Given the description of an element on the screen output the (x, y) to click on. 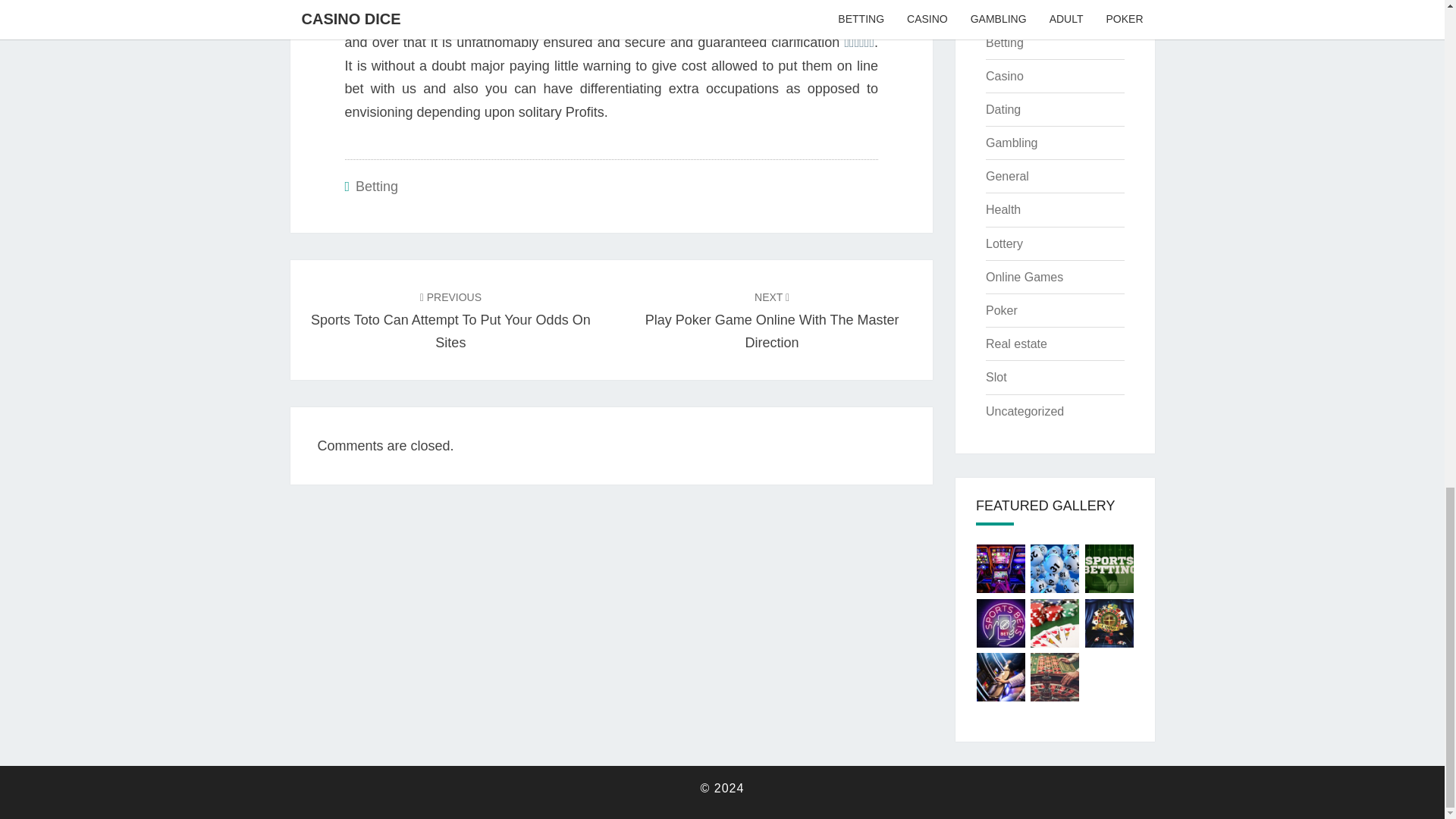
Health (1002, 209)
Gambling (772, 319)
Online Games (1010, 142)
Poker (1023, 277)
Dating (1001, 309)
Uncategorized (1002, 109)
Real estate (1024, 410)
Slot (1015, 343)
Lottery (996, 377)
